Given the description of an element on the screen output the (x, y) to click on. 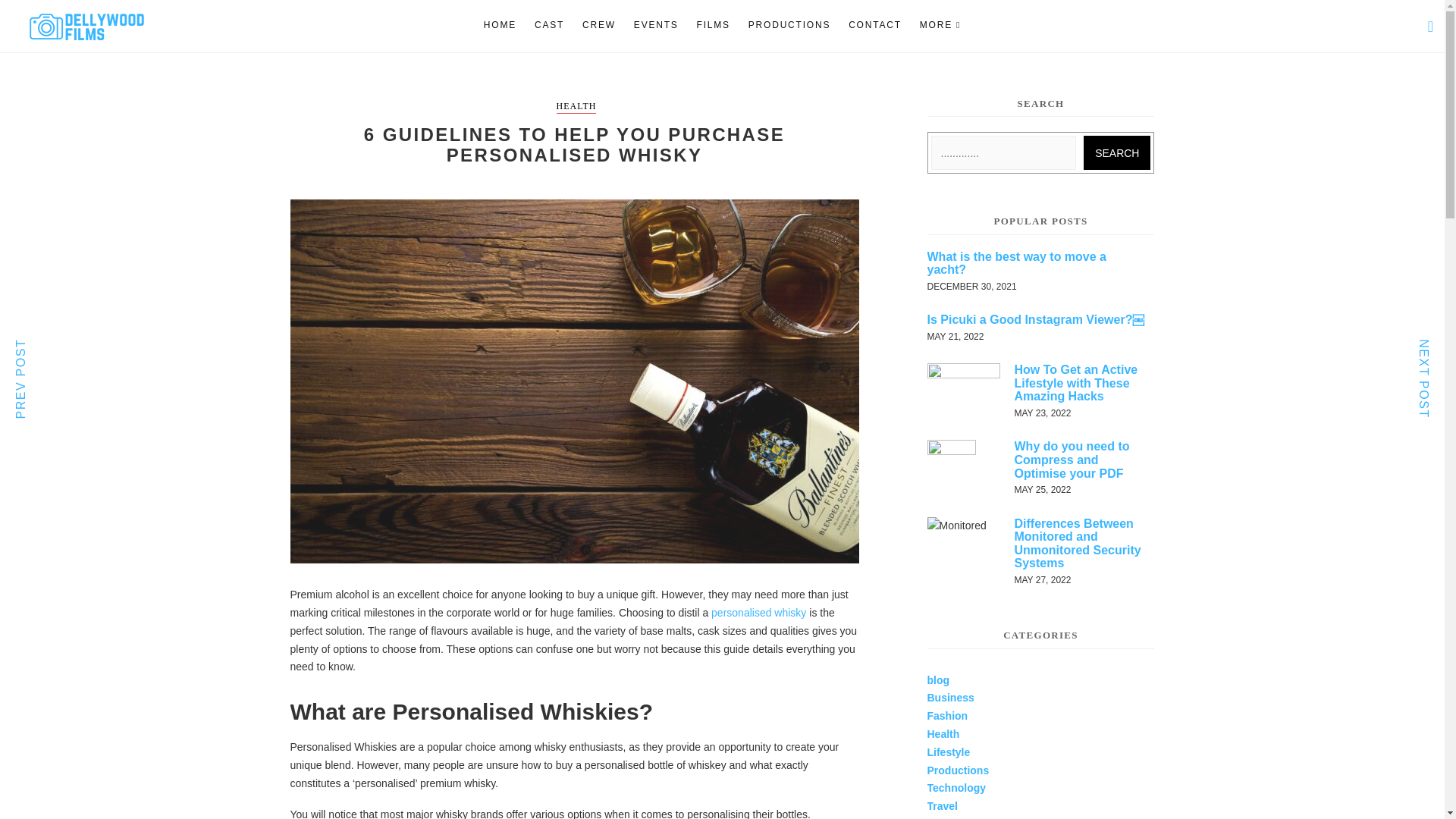
personalised whisky (758, 612)
CONTACT (874, 25)
PRODUCTIONS (788, 25)
HEALTH (576, 106)
